Given the description of an element on the screen output the (x, y) to click on. 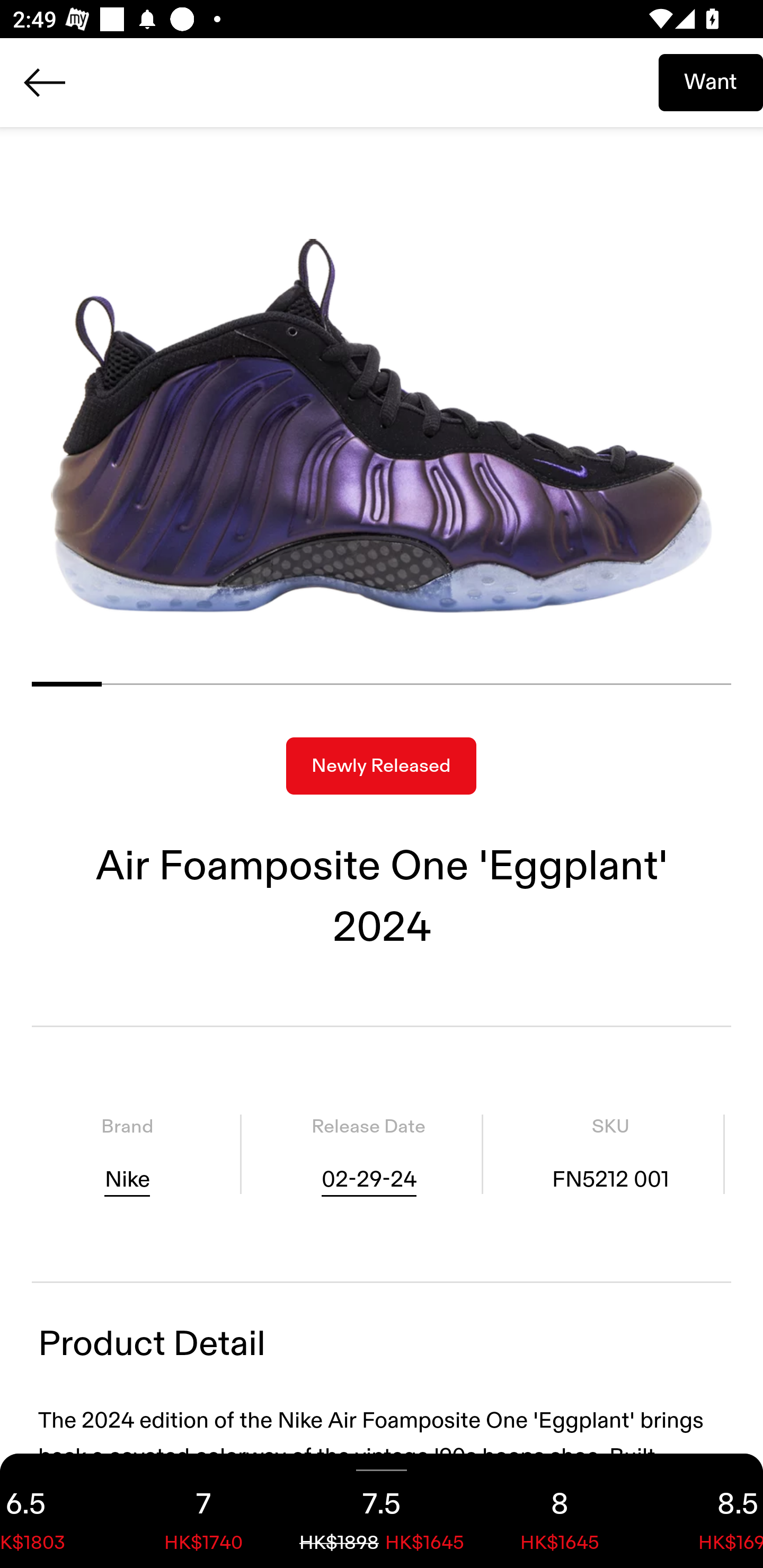
Want (710, 82)
Newly Released (381, 765)
Brand Nike (126, 1153)
Release Date 02-29-24 (368, 1153)
SKU FN5212 001 (609, 1153)
6.5 HK$1803 (57, 1510)
7 HK$1740 (203, 1510)
7.5 HK$1898 HK$1645 (381, 1510)
8 HK$1645 (559, 1510)
8.5 HK$1693 (705, 1510)
